Given the description of an element on the screen output the (x, y) to click on. 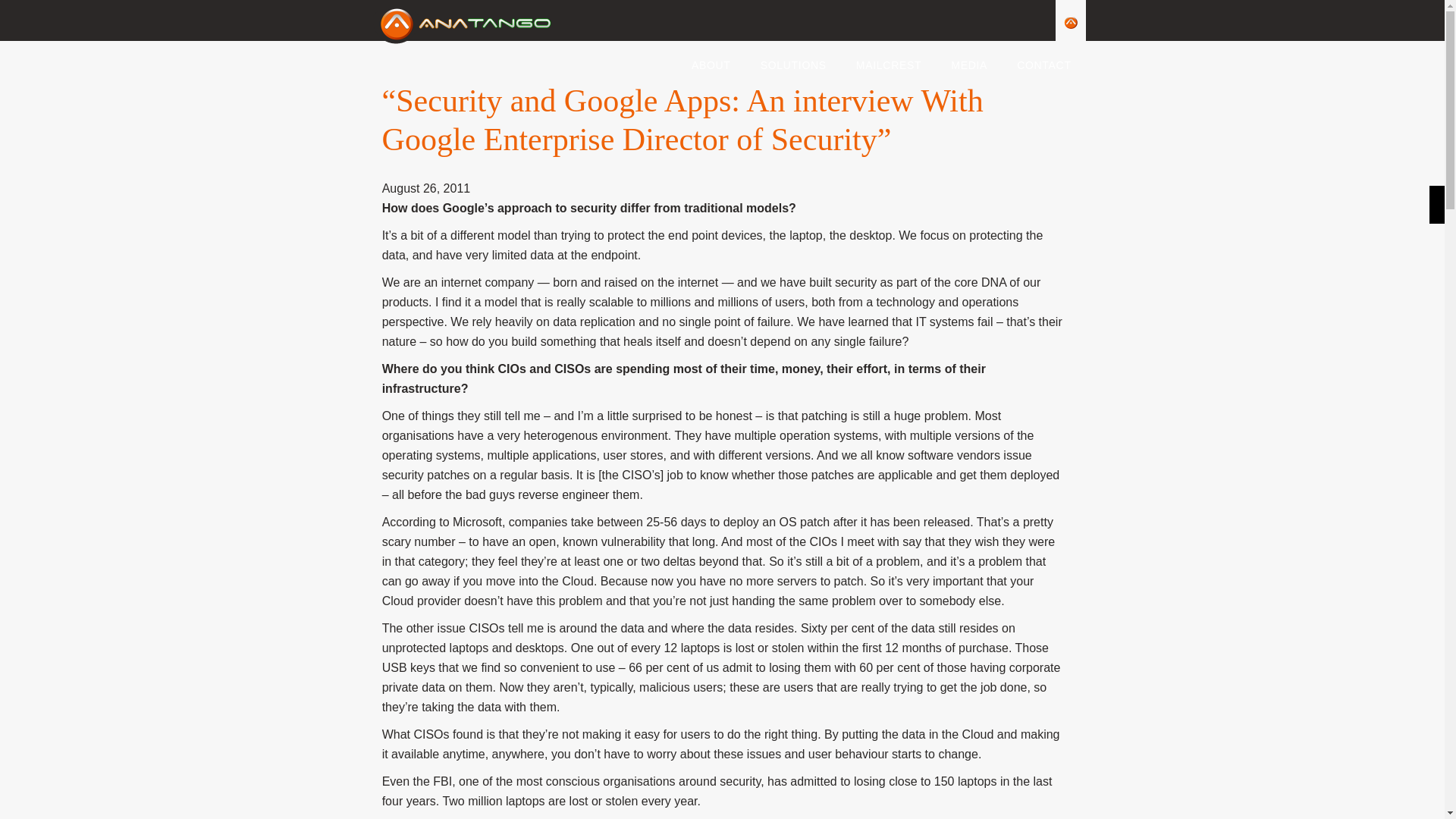
CONTACT (1043, 60)
SOLUTIONS (794, 60)
ABOUT (711, 60)
MAILCREST (889, 60)
MEDIA (969, 60)
